Given the description of an element on the screen output the (x, y) to click on. 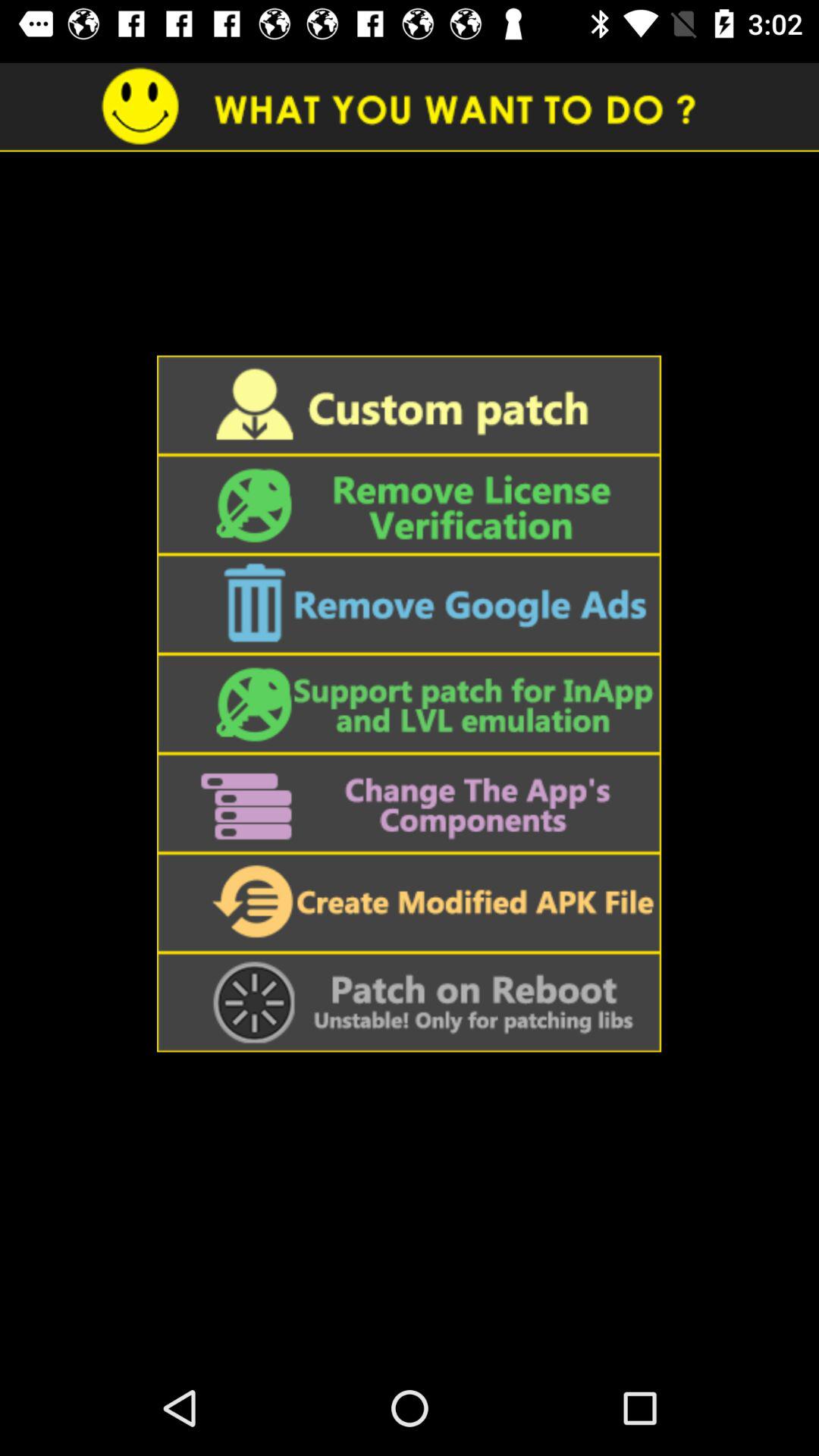
remove license option (408, 504)
